Given the description of an element on the screen output the (x, y) to click on. 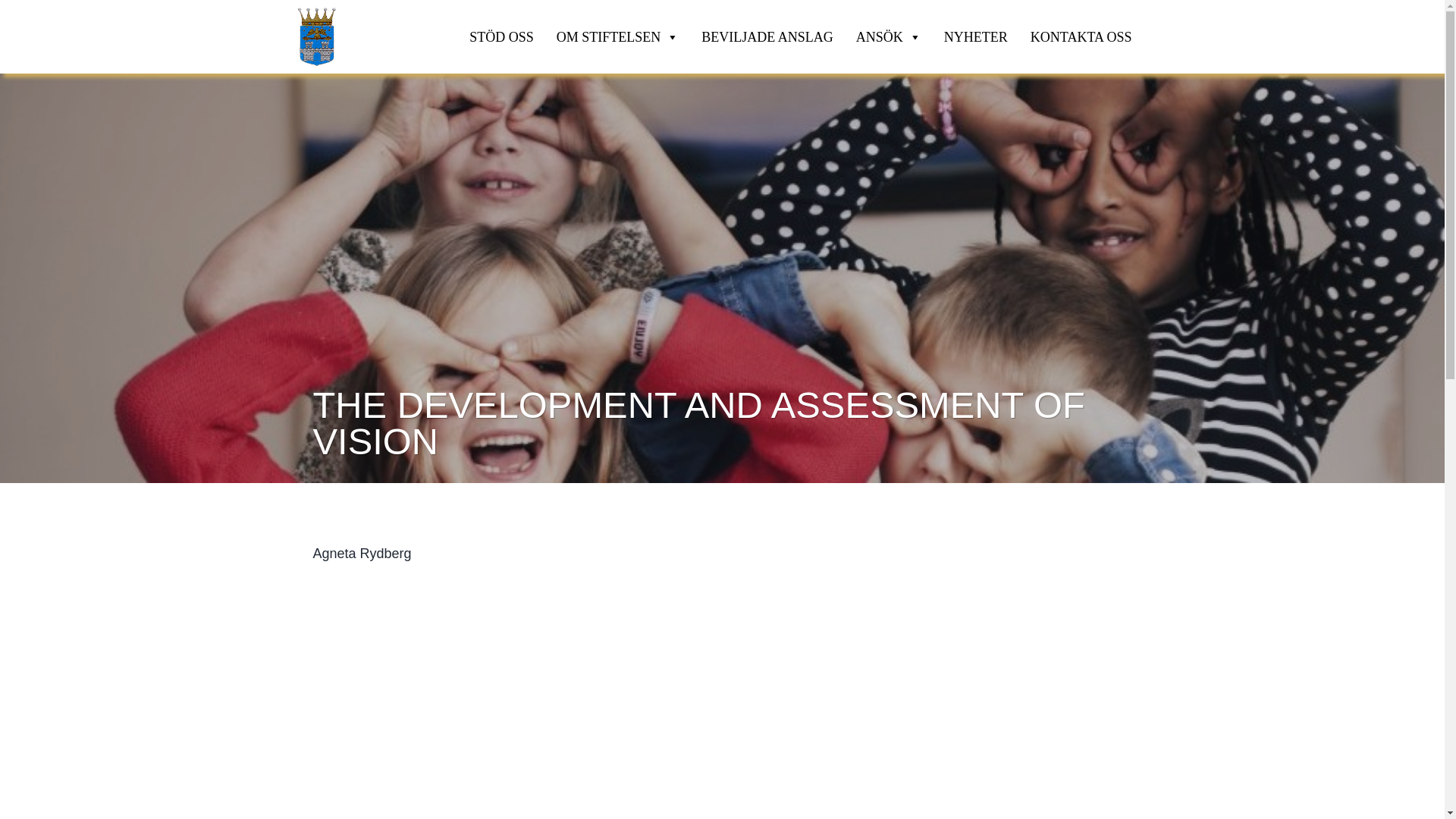
NYHETER (975, 37)
OM STIFTELSEN (617, 37)
BEVILJADE ANSLAG (767, 37)
KONTAKTA OSS (1081, 37)
